Given the description of an element on the screen output the (x, y) to click on. 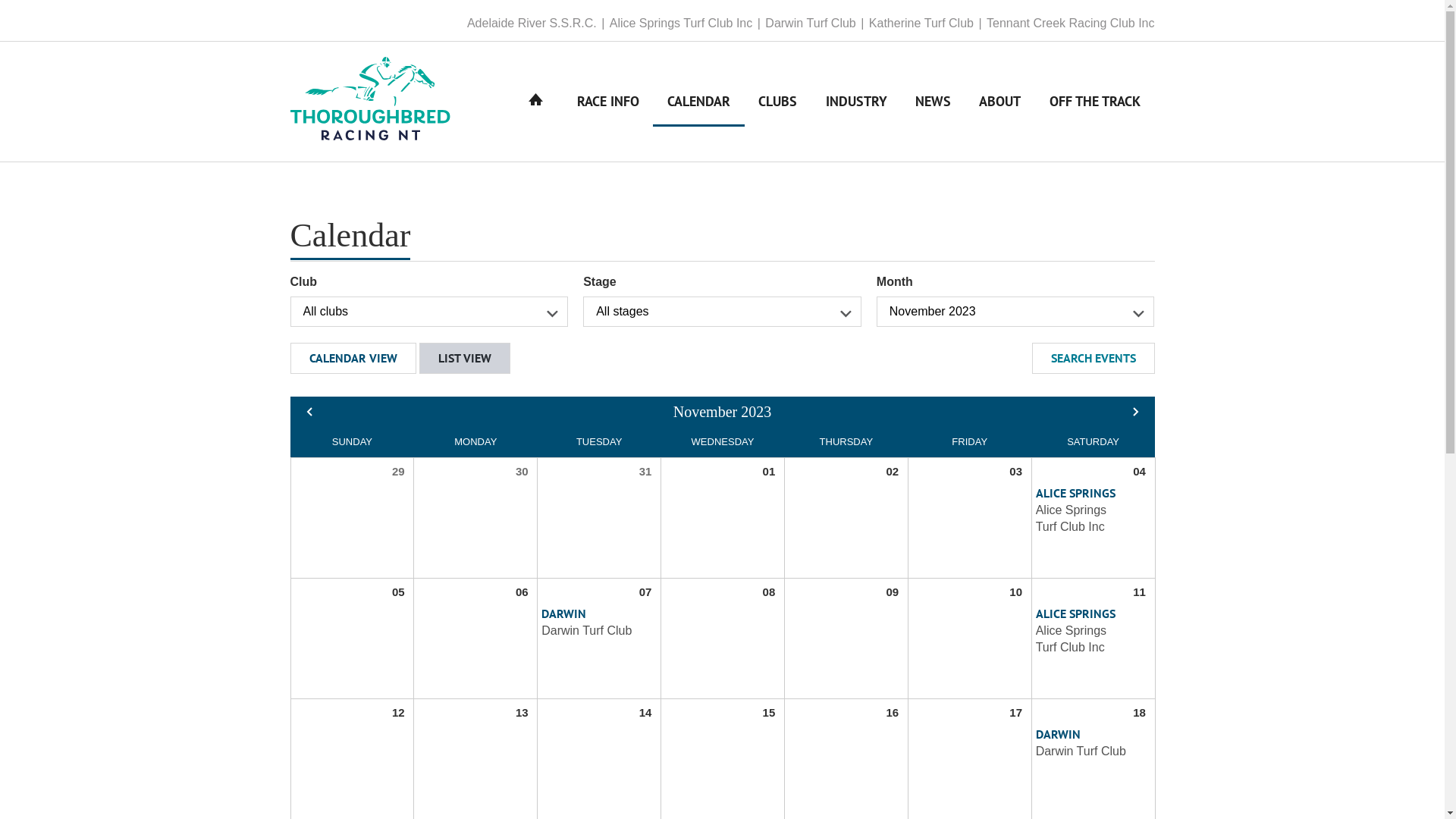
Alice Springs Turf Club Inc Element type: text (685, 23)
ABOUT Element type: text (1000, 100)
ALICE SPRINGS
Alice Springs Turf Club Inc Element type: text (1081, 510)
INDUSTRY Element type: text (855, 100)
ALICE SPRINGS
Alice Springs Turf Club Inc Element type: text (1081, 630)
CALENDAR Element type: text (697, 100)
RACE INFO Element type: text (607, 100)
LIST VIEW Element type: text (464, 357)
Darwin Turf Club Element type: text (815, 23)
DARWIN
Darwin Turf Club Element type: text (1080, 742)
SEARCH EVENTS Element type: text (1092, 357)
Tennant Creek Racing Club Inc Element type: text (1070, 23)
NEXT MONTH Element type: text (1135, 411)
PREVIOUS MONTH Element type: text (308, 411)
Katherine Turf Club Element type: text (926, 23)
CLUBS Element type: text (777, 100)
DARWIN
Darwin Turf Club Element type: text (586, 622)
Adelaide River S.S.R.C. Element type: text (536, 23)
CALENDAR VIEW Element type: text (352, 357)
NEWS Element type: text (932, 100)
OFF THE TRACK Element type: text (1094, 100)
HOME Element type: text (535, 100)
